Given the description of an element on the screen output the (x, y) to click on. 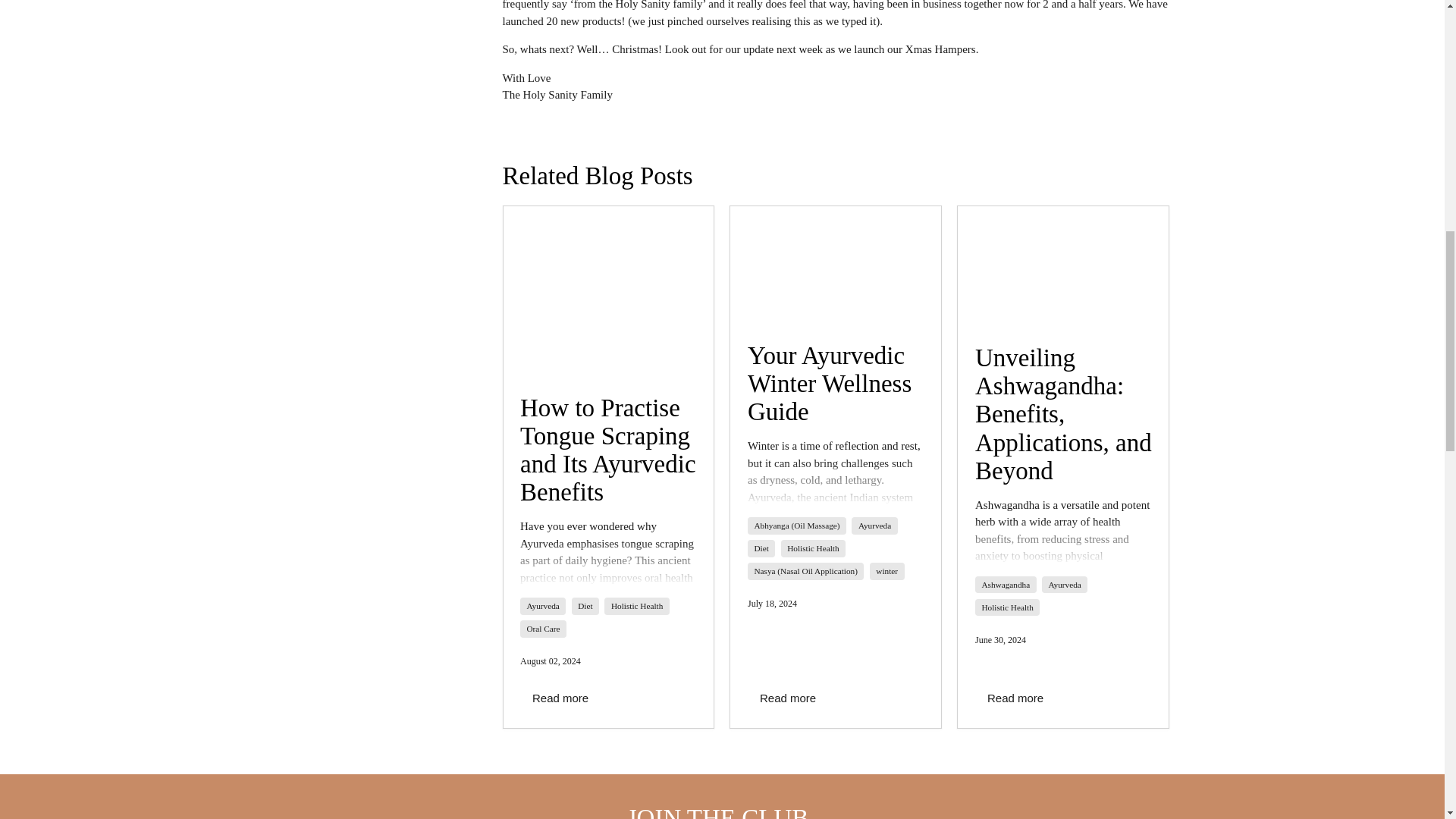
Blog tagged Diet (761, 548)
Blog tagged Diet (585, 605)
Blog tagged Holistic Health (636, 605)
Your Ayurvedic Winter Wellness Guide (835, 265)
Blog tagged Ayurveda (542, 605)
How to Practise Tongue Scraping and Its Ayurvedic Benefits (608, 291)
How to Practise Tongue Scraping and Its Ayurvedic Benefits (607, 449)
Blog tagged Oral Care (542, 628)
Your Ayurvedic Winter Wellness Guide (829, 383)
Blog tagged Ayurveda (875, 525)
